Given the description of an element on the screen output the (x, y) to click on. 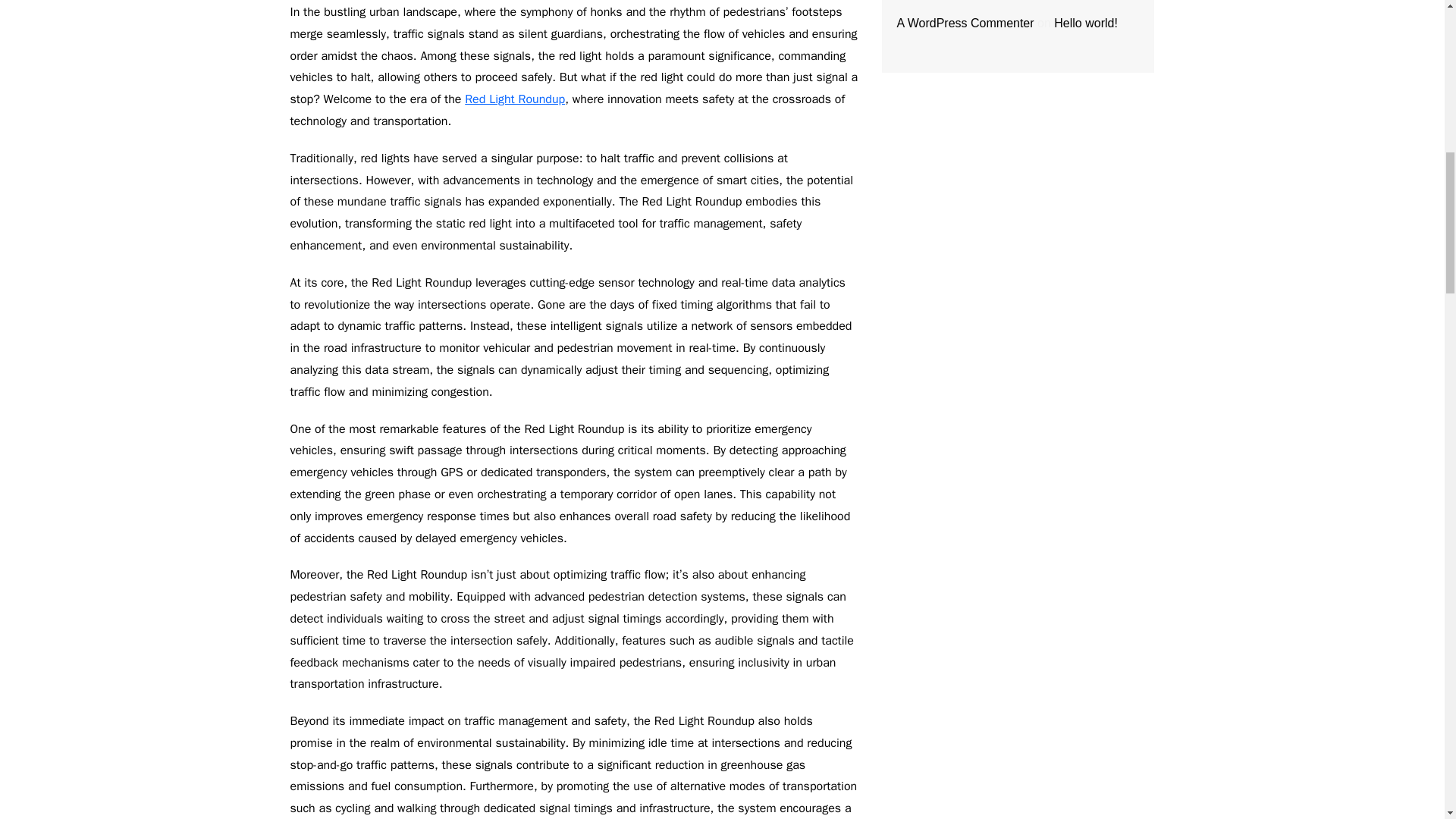
Red Light Roundup (514, 99)
